Given the description of an element on the screen output the (x, y) to click on. 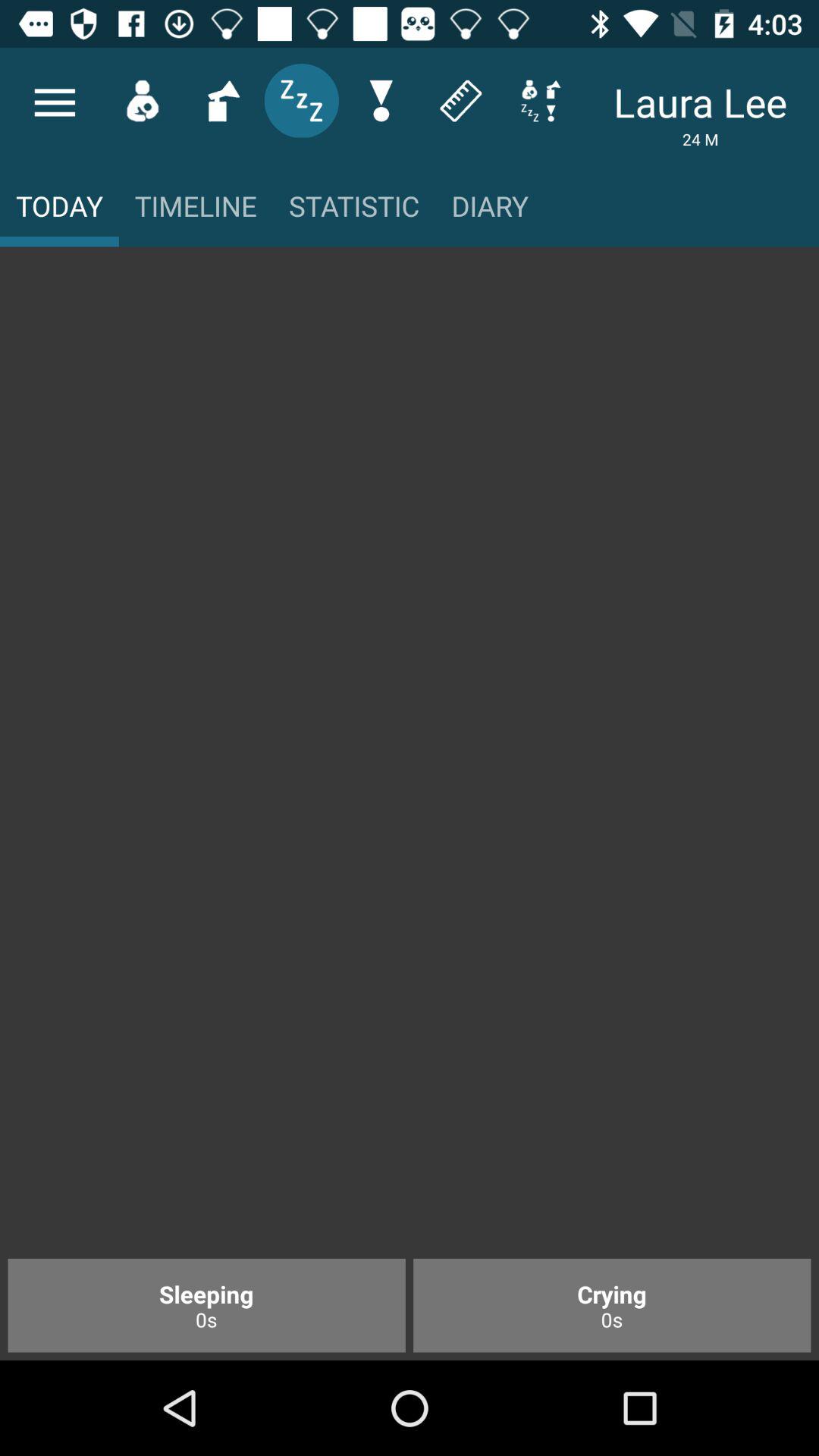
click the icon at the bottom left corner (206, 1305)
